Given the description of an element on the screen output the (x, y) to click on. 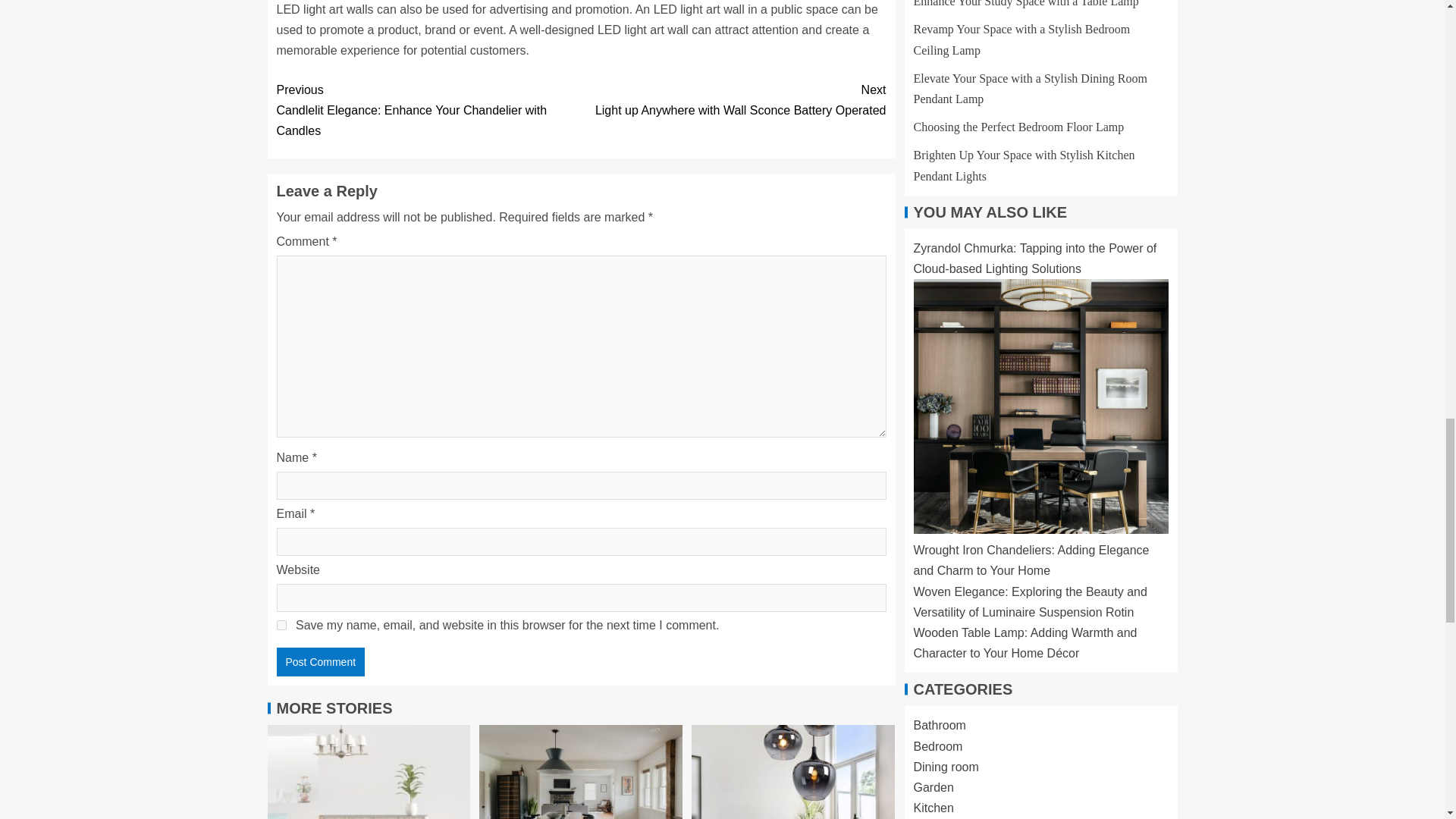
Post Comment (732, 99)
yes (320, 661)
Post Comment (280, 624)
